Given the description of an element on the screen output the (x, y) to click on. 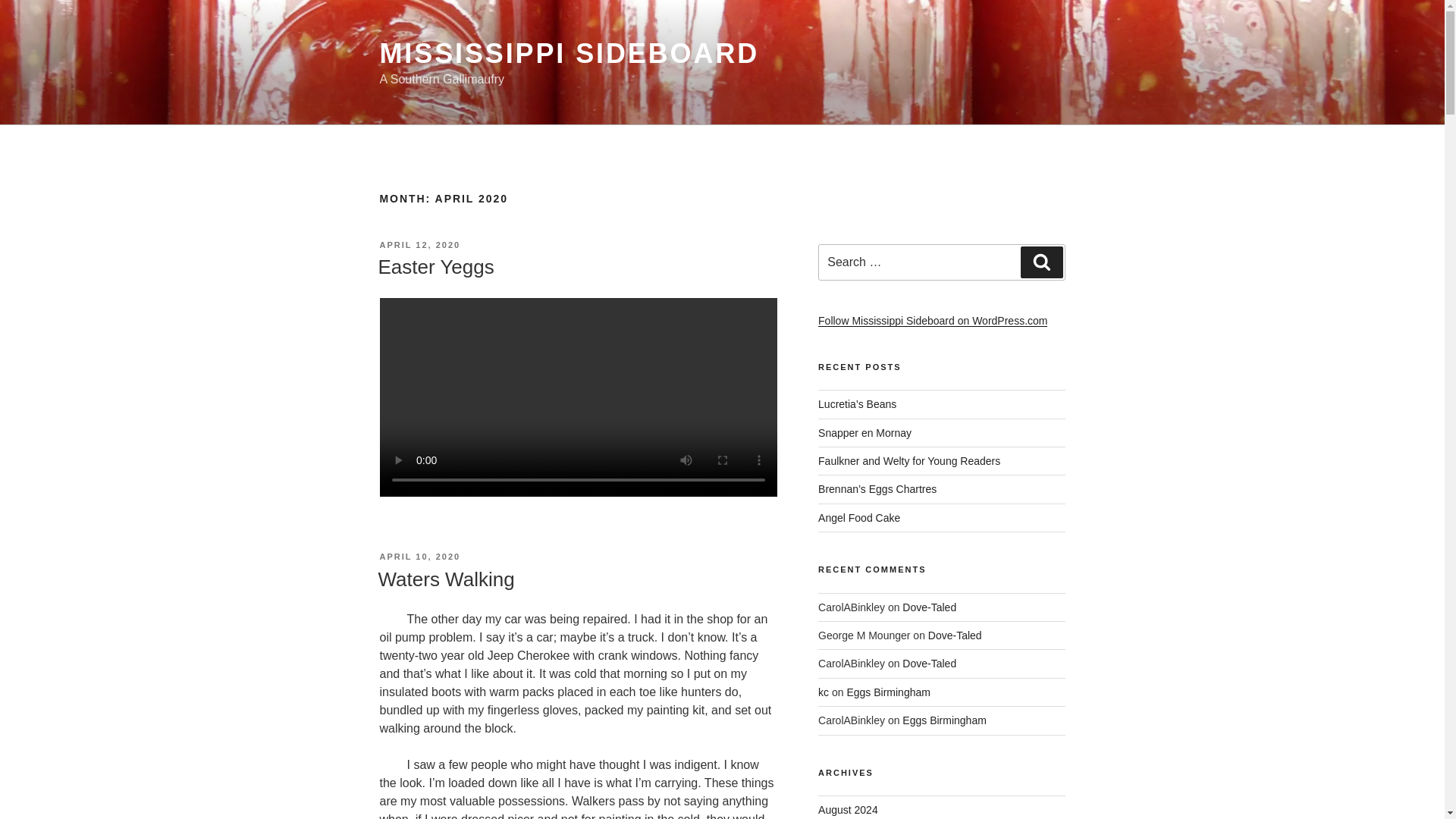
Waters Walking (445, 579)
Search (1041, 262)
MISSISSIPPI SIDEBOARD (568, 52)
Dove-Taled (954, 635)
APRIL 12, 2020 (419, 244)
APRIL 10, 2020 (419, 556)
Eggs Birmingham (887, 692)
Follow Mississippi Sideboard on WordPress.com (932, 320)
Faulkner and Welty for Young Readers (909, 460)
Dove-Taled (929, 663)
